Given the description of an element on the screen output the (x, y) to click on. 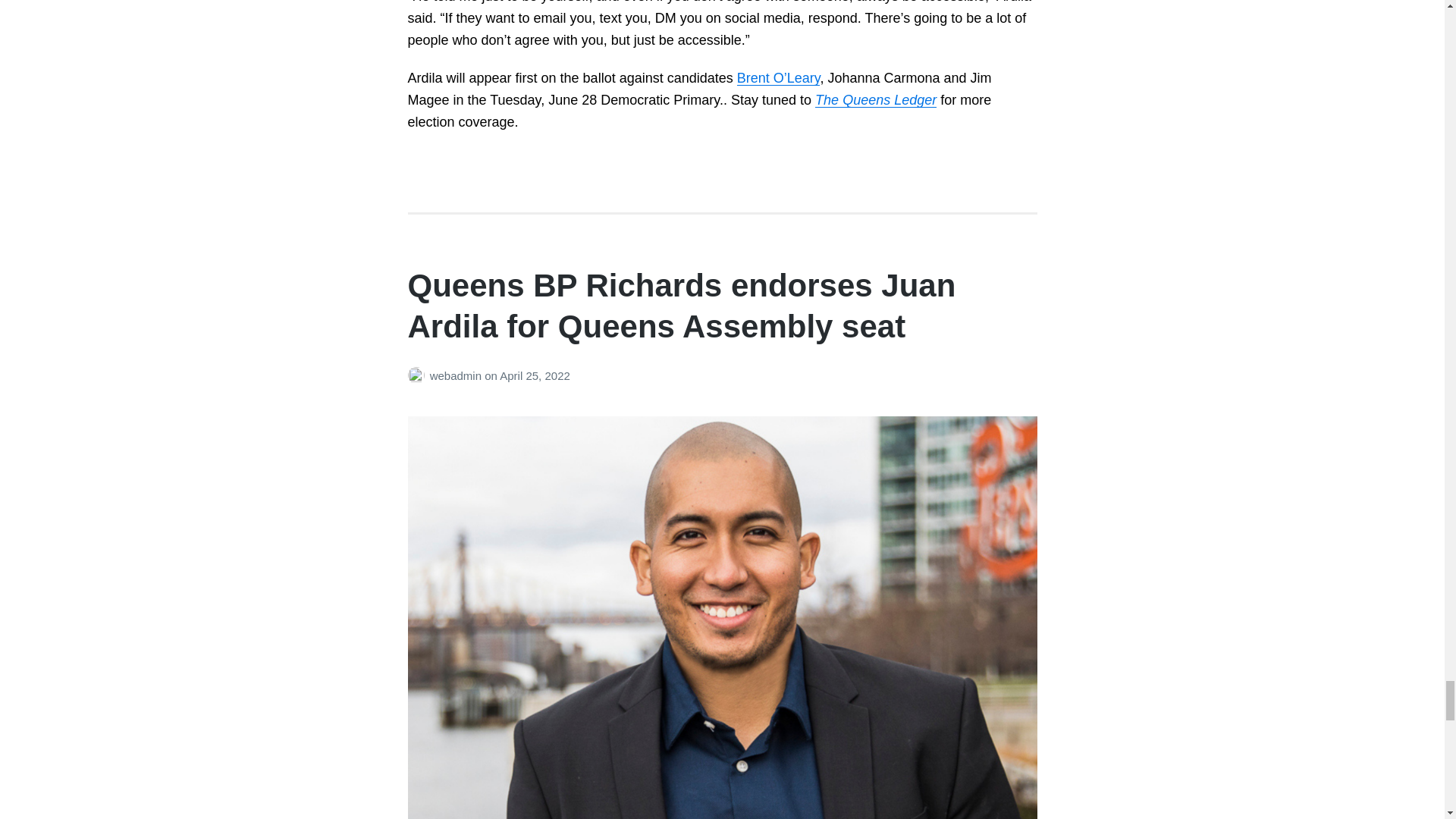
Posts by webadmin (418, 375)
